Given the description of an element on the screen output the (x, y) to click on. 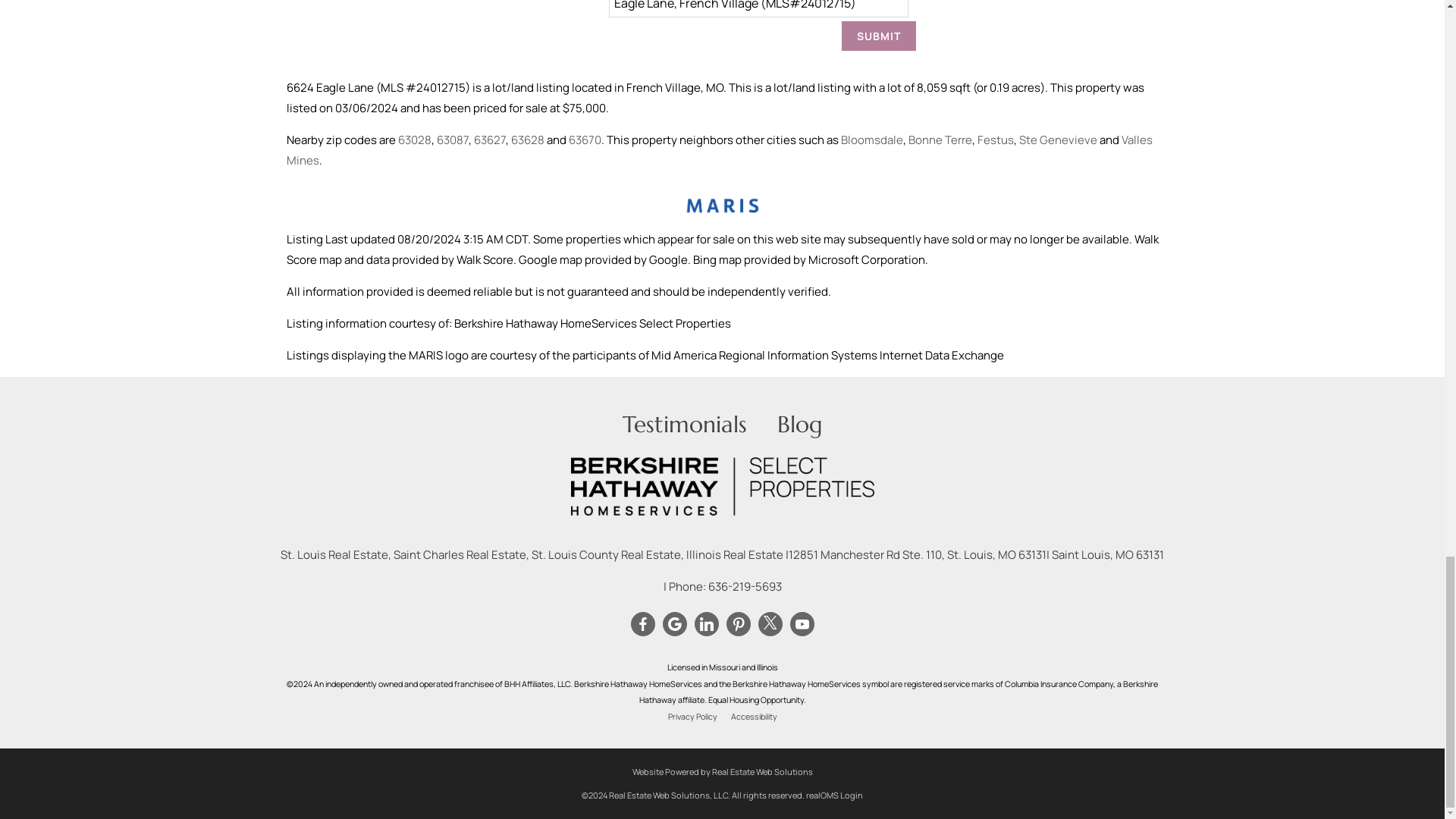
Blog (799, 424)
Visit me on Google (673, 623)
Visit me on Pinterest (737, 623)
Visit me on YouTube (801, 623)
Visit me on Facebook (641, 623)
Testimonials (683, 424)
Visit me on LinkedIn (705, 623)
